Given the description of an element on the screen output the (x, y) to click on. 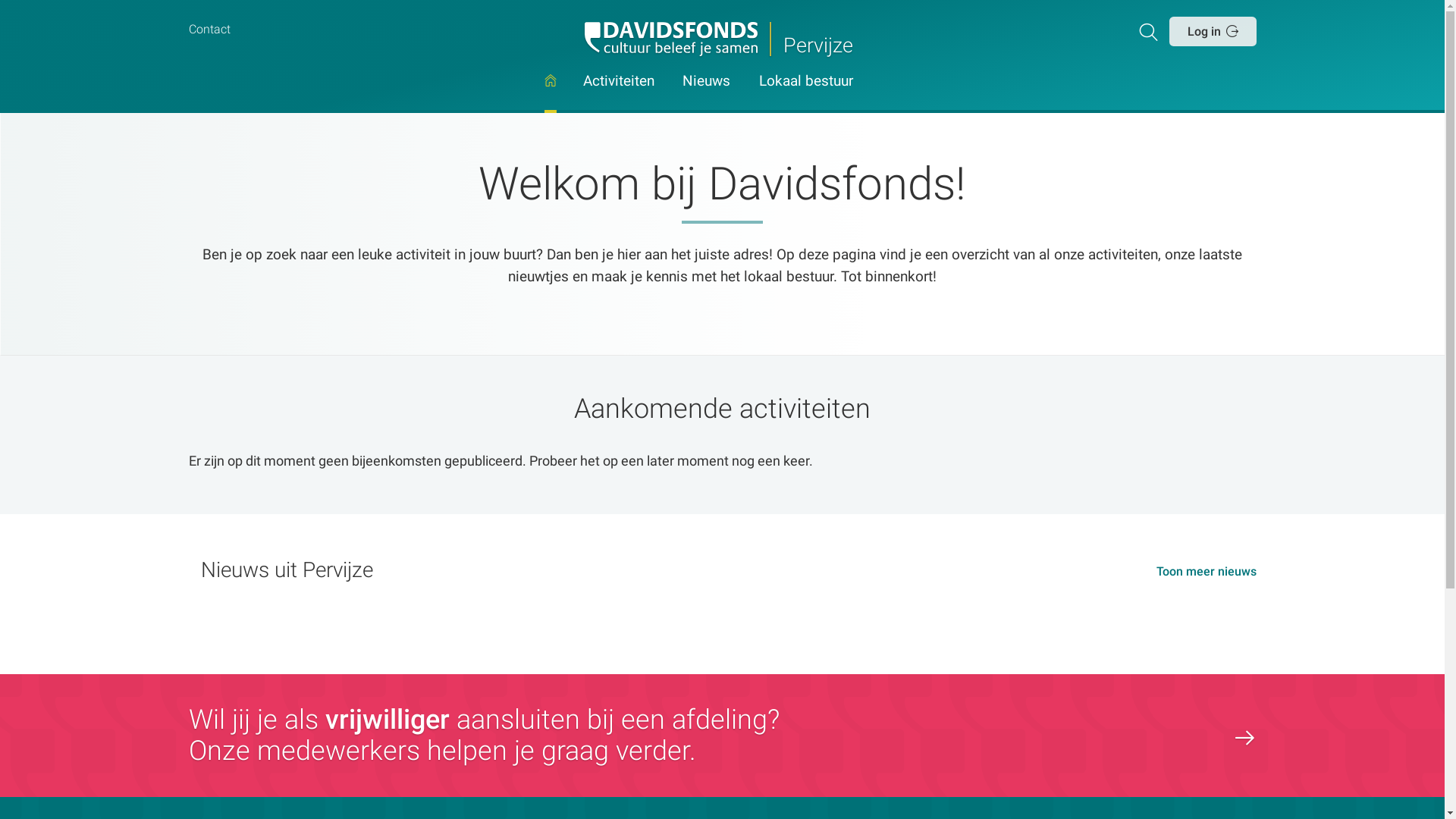
Zoeken Element type: text (1150, 31)
Contact Element type: text (208, 30)
Nieuws Element type: text (706, 93)
Lokaal bestuur Element type: text (806, 93)
Log in Element type: text (1212, 30)
Activiteiten Element type: text (618, 93)
Pervijze Element type: text (721, 38)
Toon meer nieuws Element type: text (1205, 571)
Hoofdpagina Element type: text (550, 93)
